Given the description of an element on the screen output the (x, y) to click on. 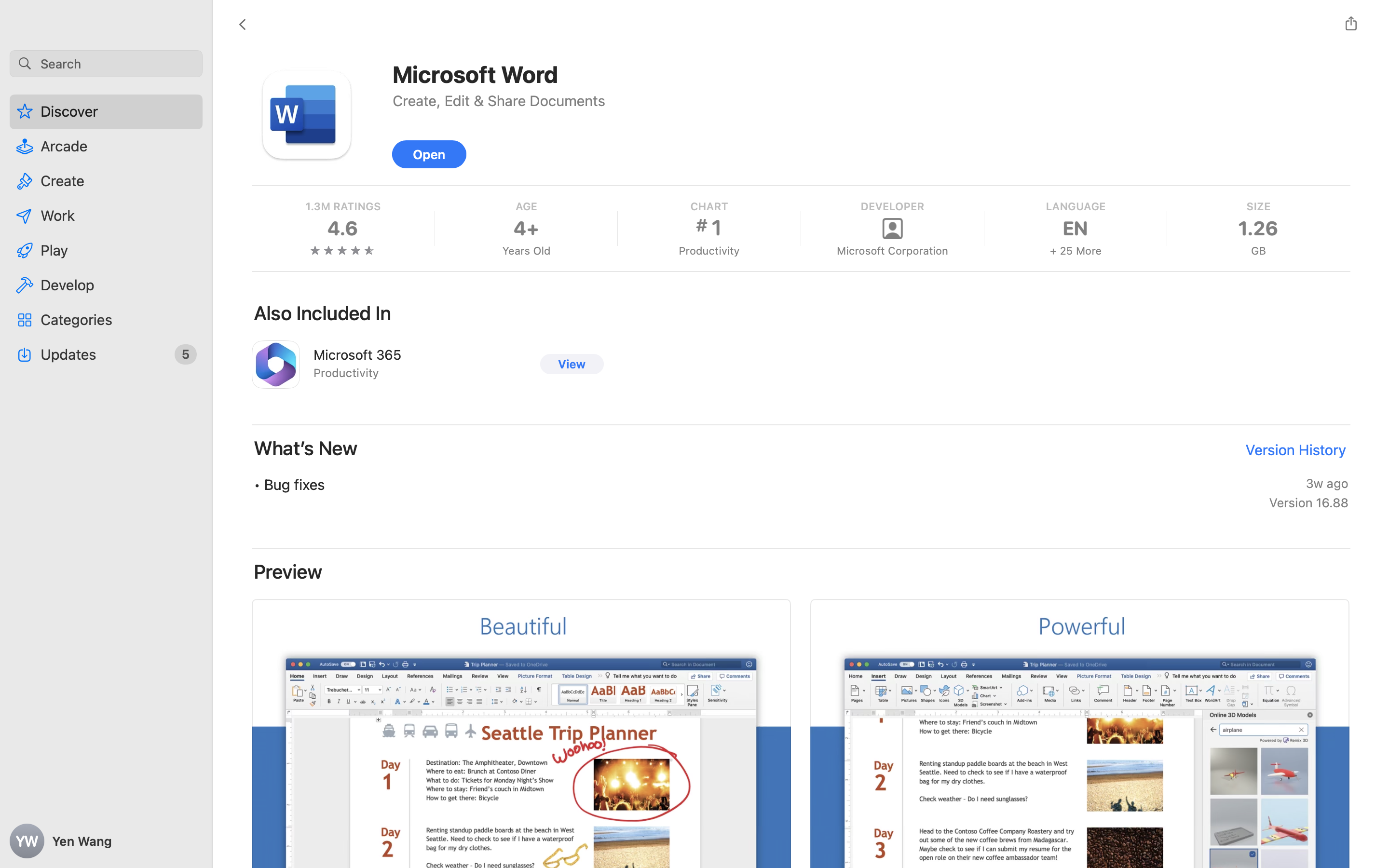
Microsoft Corporation, DEVELOPER, selfie Element type: AXStaticText (891, 228)
1.3M RATINGS Element type: AXStaticText (342, 206)
Productivity Element type: AXStaticText (708, 250)
1 Element type: AXStaticText (708, 227)
Microsoft Corporation Element type: AXStaticText (891, 250)
